Given the description of an element on the screen output the (x, y) to click on. 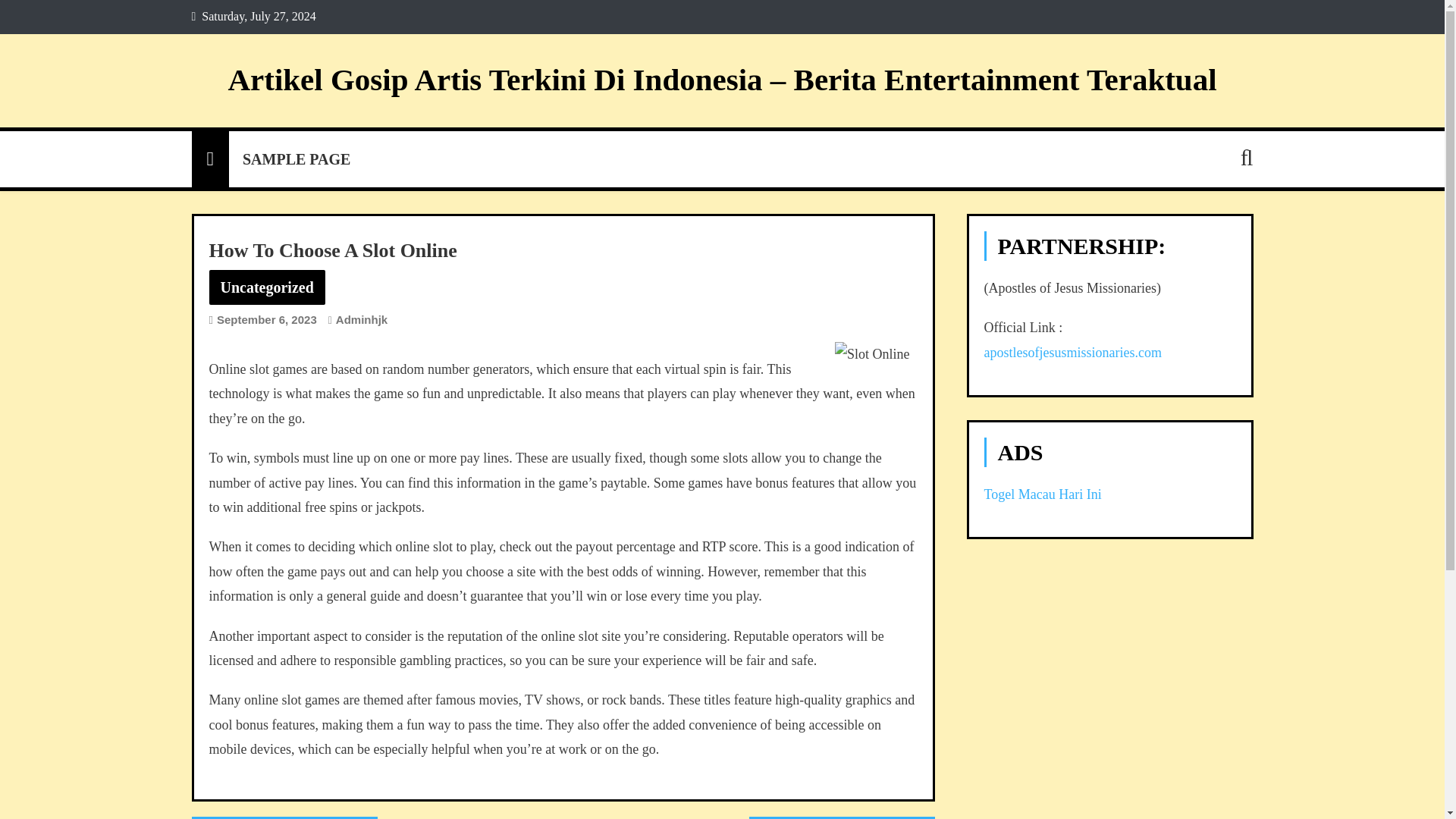
Adminhjk (361, 318)
Learn the Basics of Poker (841, 817)
Uncategorized (266, 287)
Togel Macau Hari Ini (1043, 494)
Search (1221, 222)
SAMPLE PAGE (296, 159)
September 6, 2023 (266, 318)
Casino Security Measures (283, 817)
apostlesofjesusmissionaries.com (1072, 352)
